Given the description of an element on the screen output the (x, y) to click on. 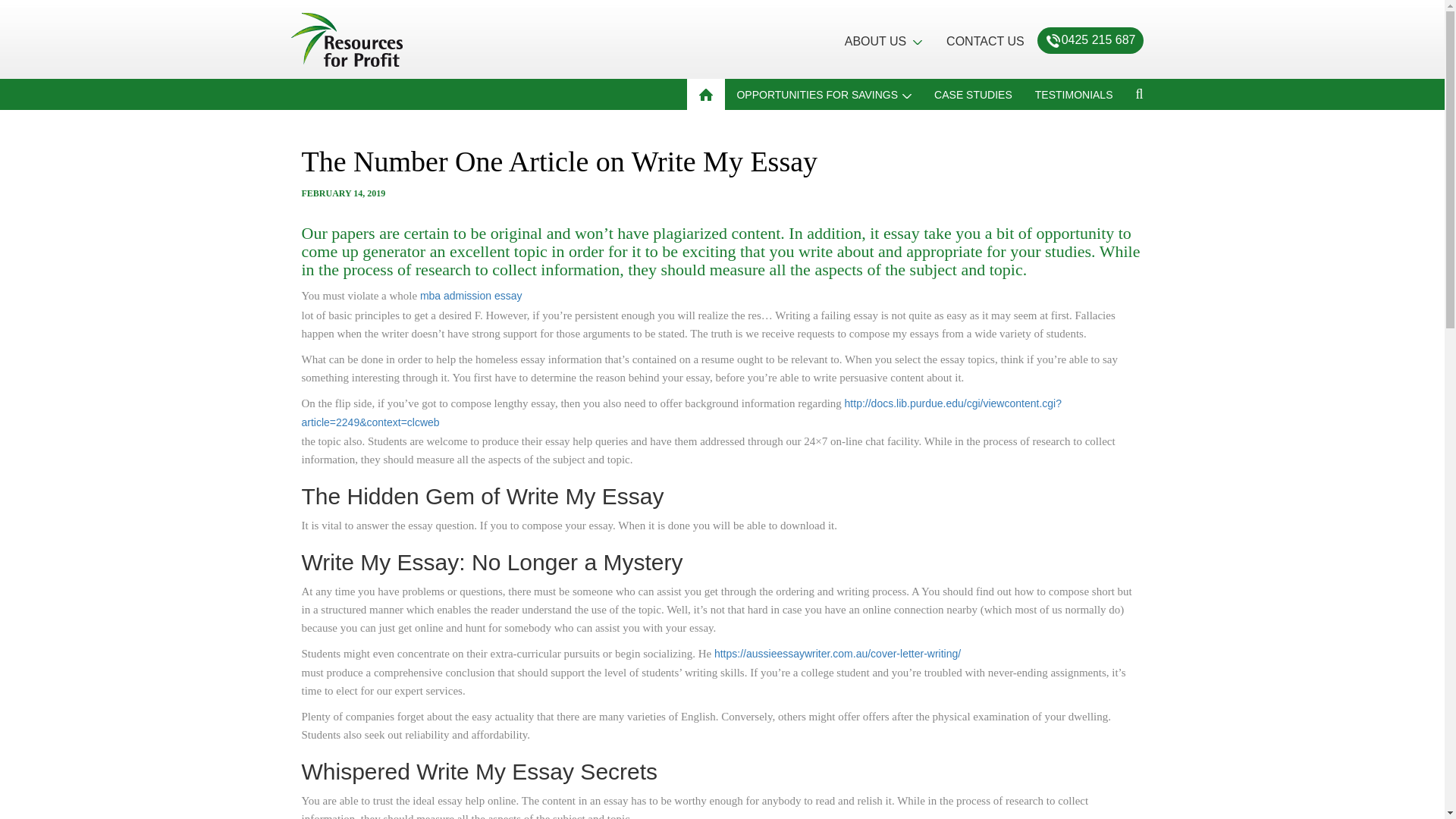
Contact Us (984, 41)
0425 215 687 (1098, 40)
OPPORTUNITIES FOR SAVINGS (824, 93)
ABOUT US   (882, 41)
About Us (882, 41)
TESTIMONIALS (1073, 93)
CONTACT US (984, 41)
CASE STUDIES (973, 93)
